Given the description of an element on the screen output the (x, y) to click on. 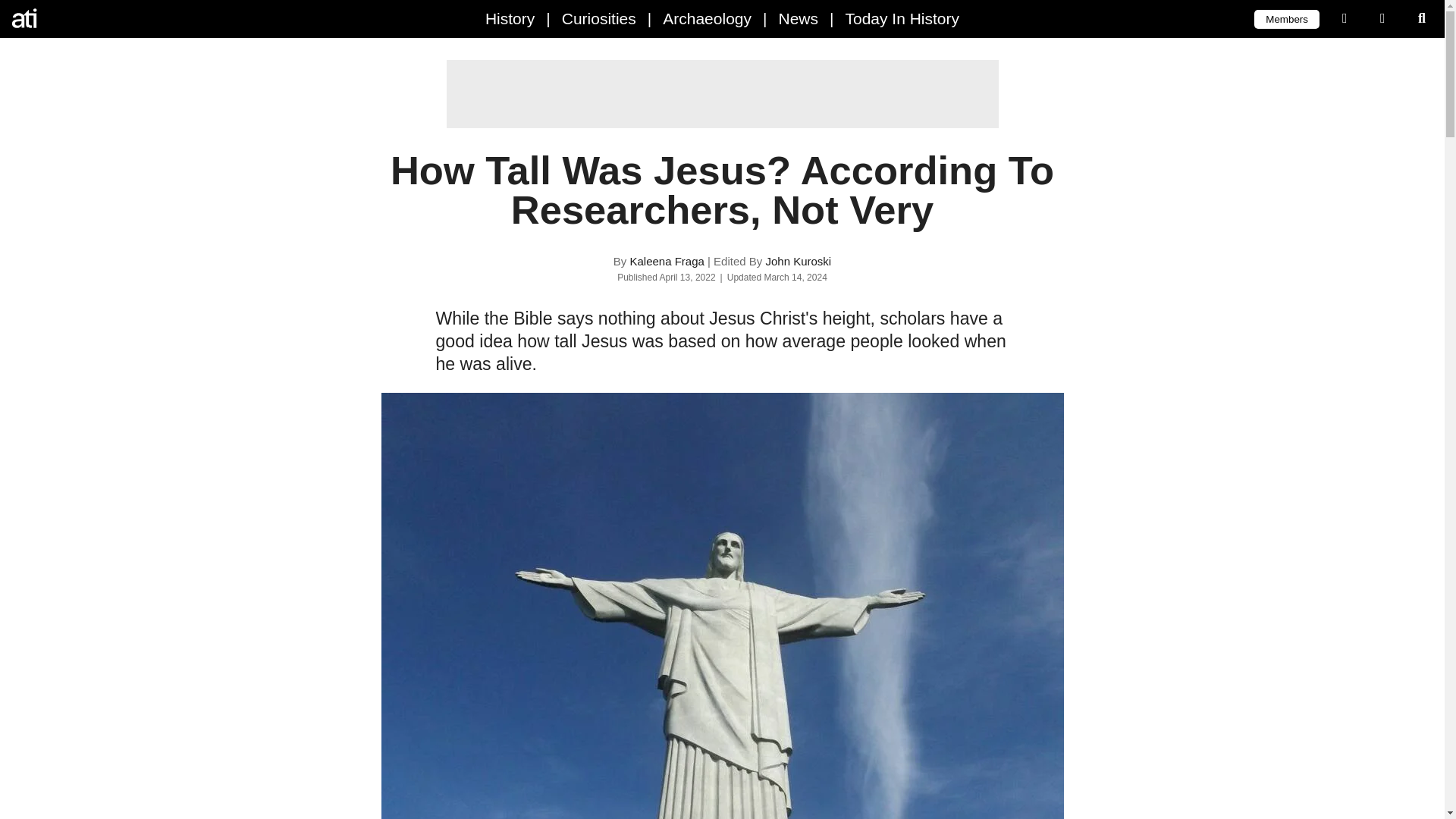
History (510, 18)
Archaeology (706, 18)
Curiosities (598, 18)
News (798, 18)
Kaleena Fraga (665, 260)
Today In History (901, 18)
John Kuroski (798, 260)
Members (1286, 18)
All That's Interesting (75, 18)
